Given the description of an element on the screen output the (x, y) to click on. 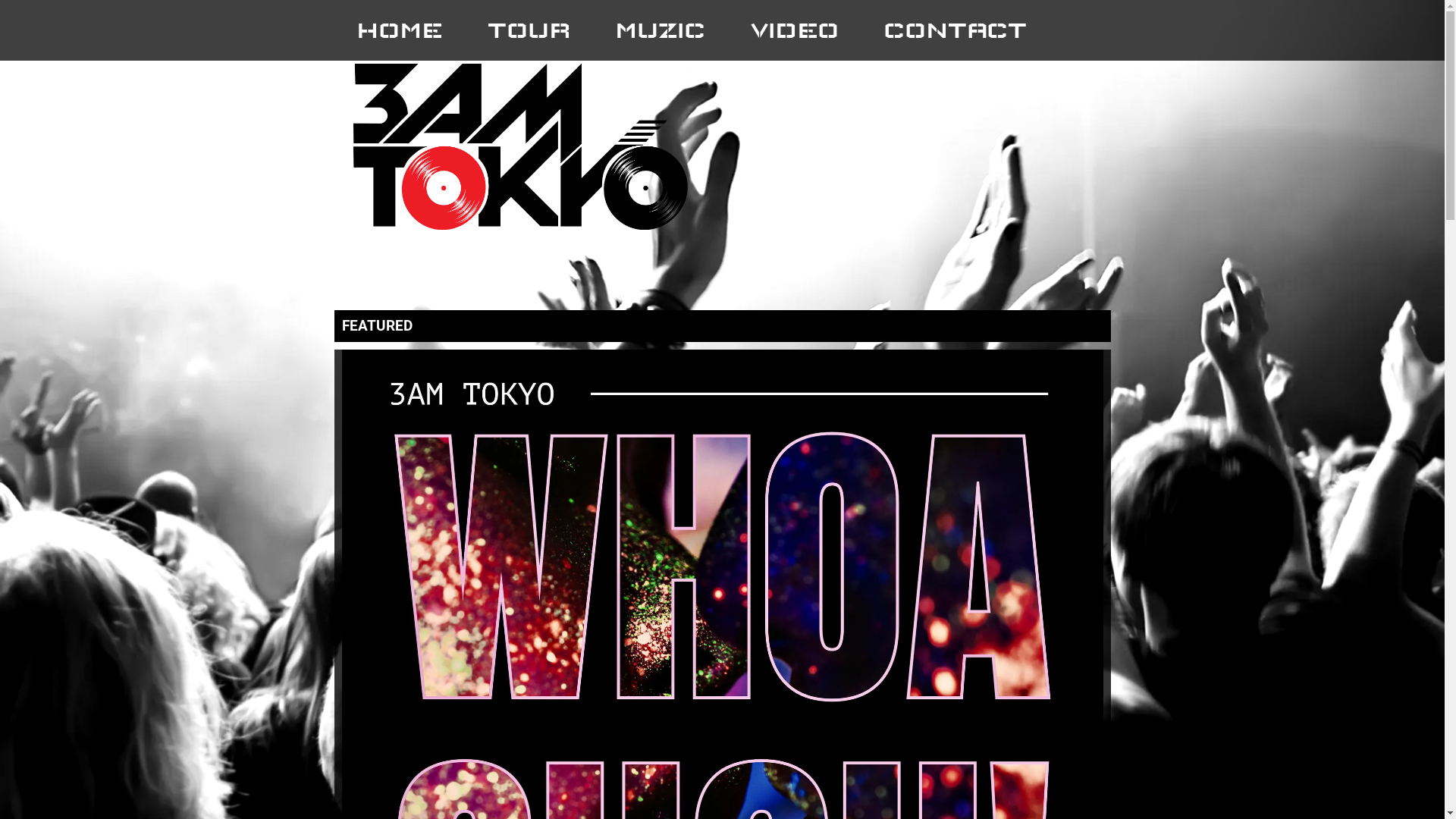
HOME Element type: text (399, 30)
CONTACT Element type: text (954, 30)
VIDEO Element type: text (794, 30)
MUZIC Element type: text (660, 30)
TOUR Element type: text (528, 30)
